Given the description of an element on the screen output the (x, y) to click on. 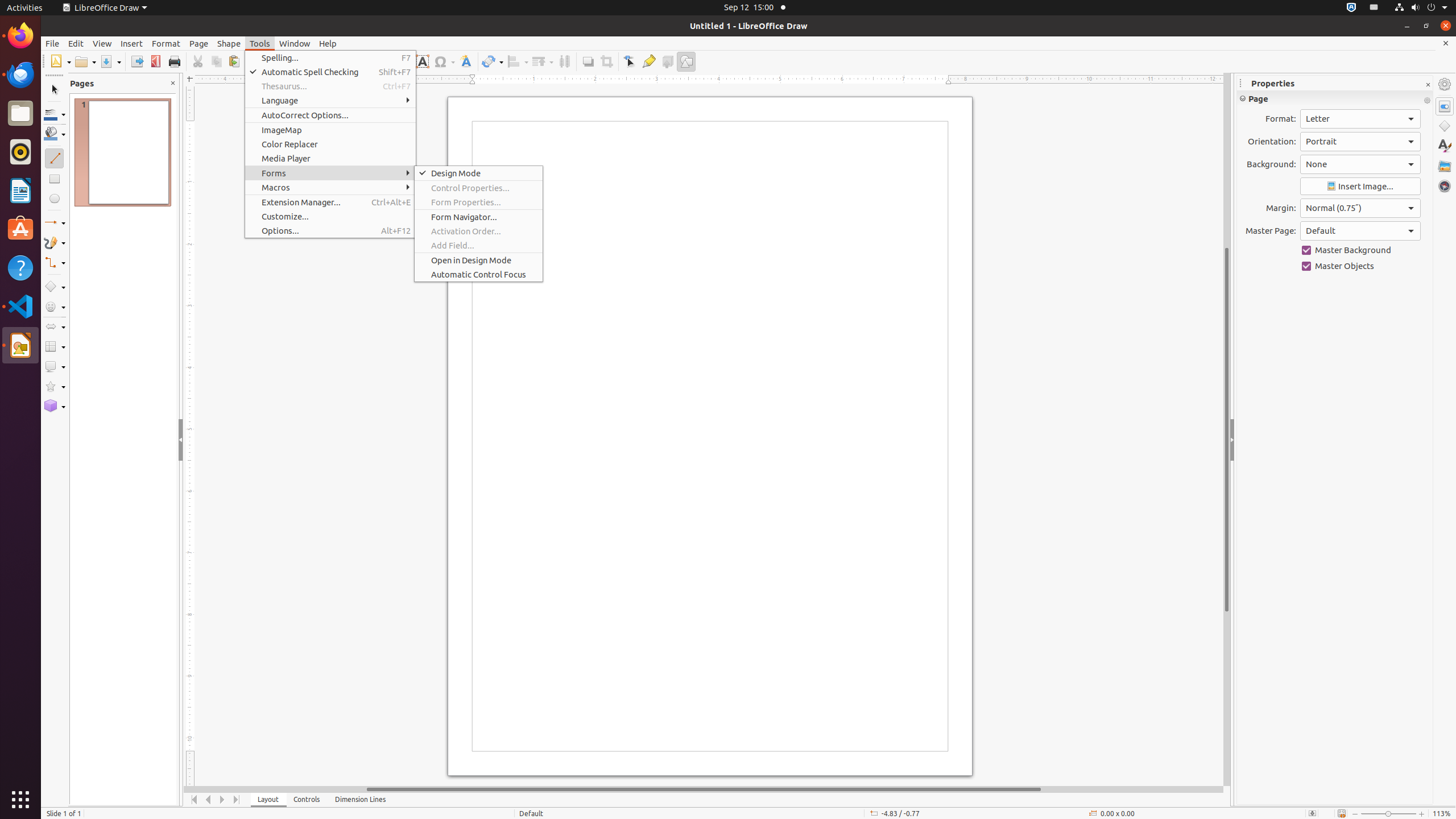
Open Element type: push-button (84, 61)
Navigator Element type: radio-button (1444, 185)
Color Replacer Element type: check-menu-item (330, 144)
Insert Element type: menu (131, 43)
Export Element type: push-button (136, 61)
